Given the description of an element on the screen output the (x, y) to click on. 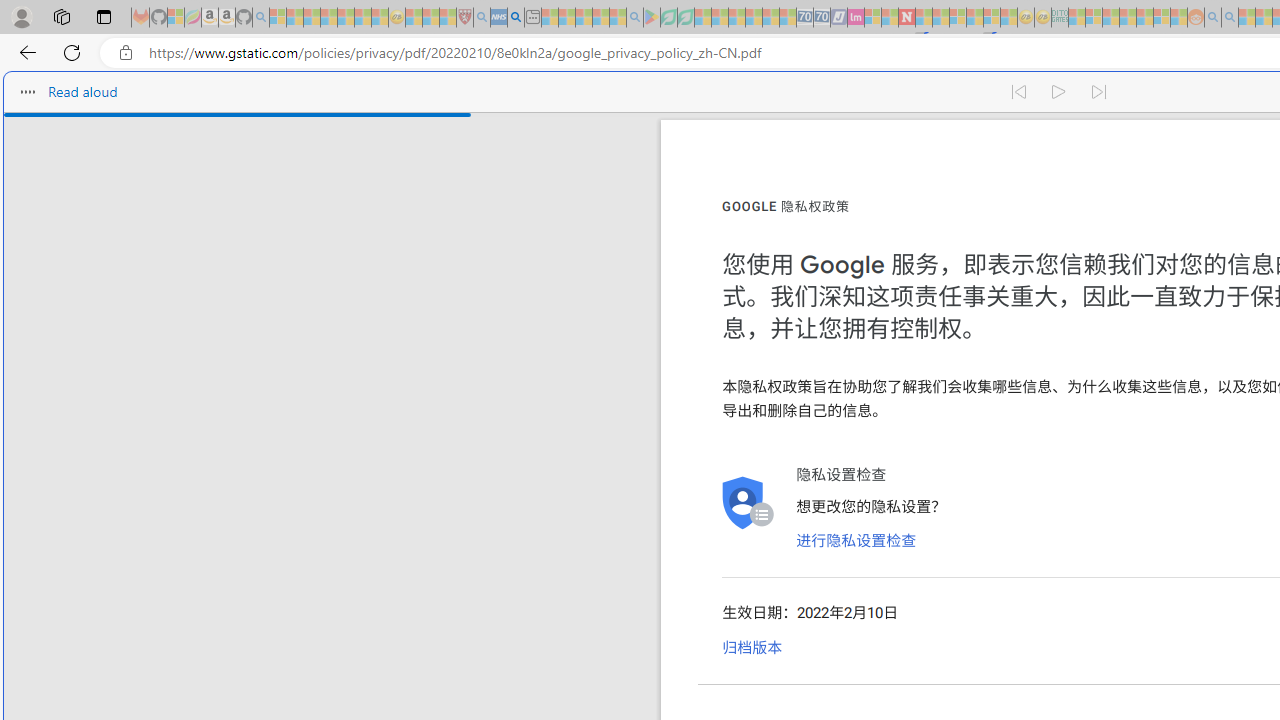
Terms of Use Agreement - Sleeping (668, 17)
Expert Portfolios - Sleeping (1128, 17)
Read previous paragraph (1018, 92)
Jobs - lastminute.com Investor Portal - Sleeping (855, 17)
